Given the description of an element on the screen output the (x, y) to click on. 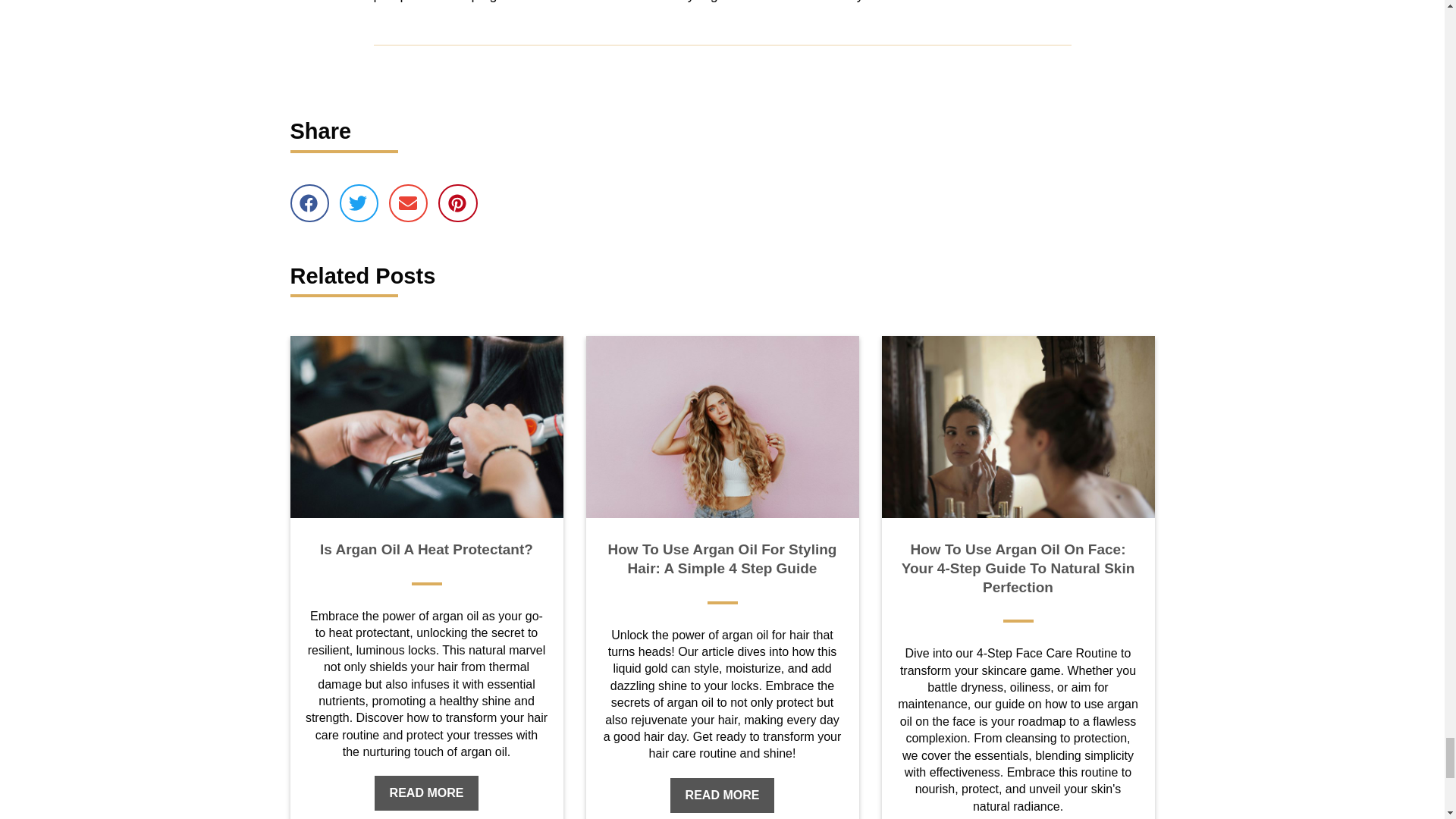
READ MORE (426, 792)
